Given the description of an element on the screen output the (x, y) to click on. 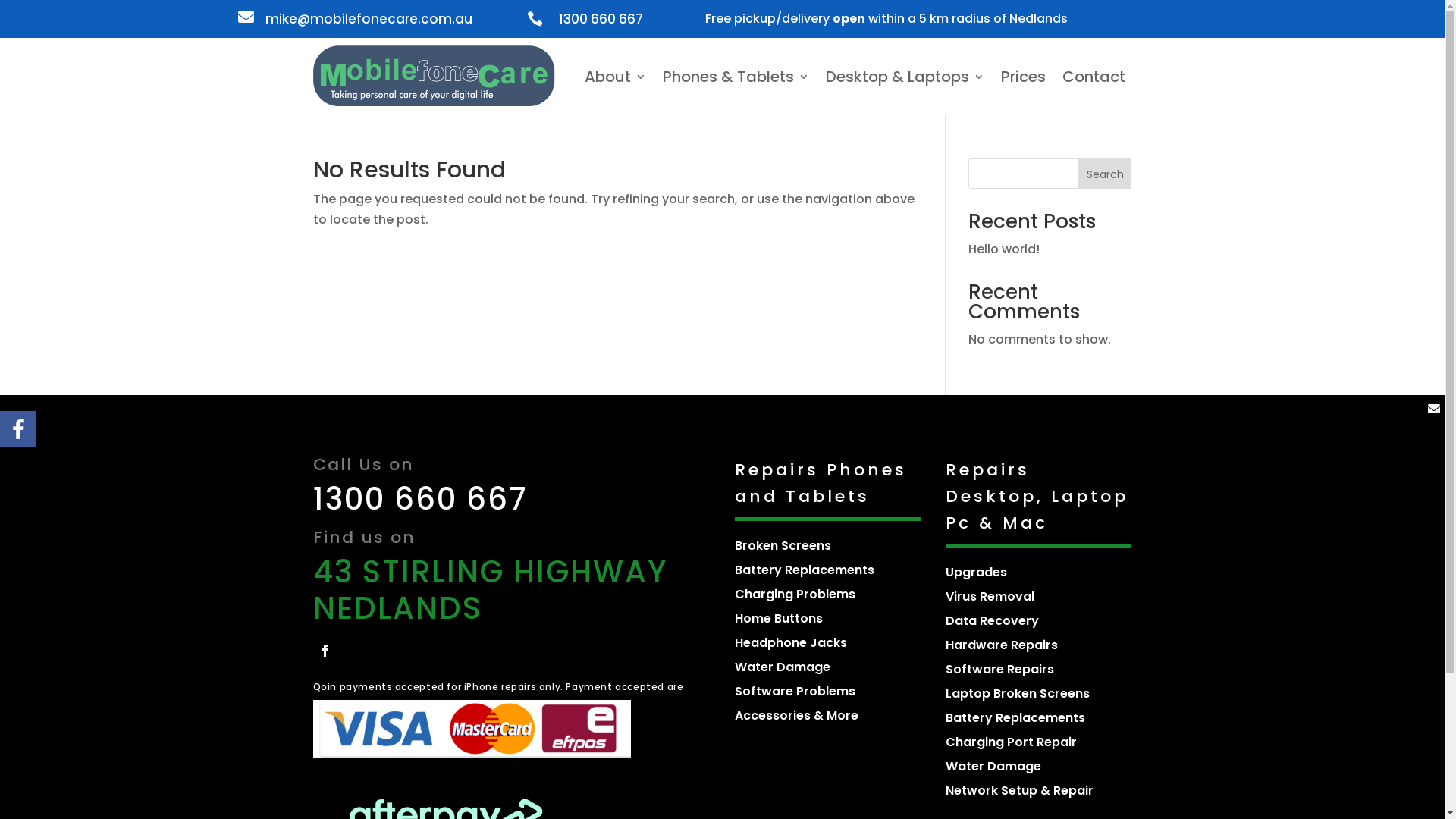
Headphone Jacks Element type: text (790, 642)
Hello world! Element type: text (1003, 248)
Charging Problems Element type: text (794, 593)
Accessories & More Element type: text (796, 715)
Contact Element type: text (1092, 75)
Phones & Tablets Element type: text (735, 75)
Battery Replacements Element type: text (804, 569)
Home Buttons Element type: text (778, 618)
Water Damage Element type: text (782, 666)
Search Element type: text (1105, 173)
Software Repairs Element type: text (999, 668)
Broken Screens Element type: text (782, 545)
Hardware Repairs Element type: text (1001, 644)
1300 660 667 Element type: text (419, 498)
Desktop & Laptops Element type: text (904, 75)
Network Setup & Repair Element type: text (1019, 790)
Data Recovery Element type: text (991, 620)
Virus Removal Element type: text (989, 596)
Software Problems Element type: text (794, 690)
Follow on Facebook Element type: hover (324, 650)
Laptop Broken Screens Element type: text (1017, 693)
About Element type: text (614, 75)
Prices Element type: text (1023, 75)
Charging Port Repair Element type: text (1010, 741)
43 STIRLING HIGHWAY NEDLANDS Element type: text (489, 589)
Upgrades Element type: text (976, 571)
Group-1-1-1024x137 Element type: hover (471, 728)
Battery Replacements Element type: text (1015, 717)
Water Damage Element type: text (993, 766)
